Given the description of an element on the screen output the (x, y) to click on. 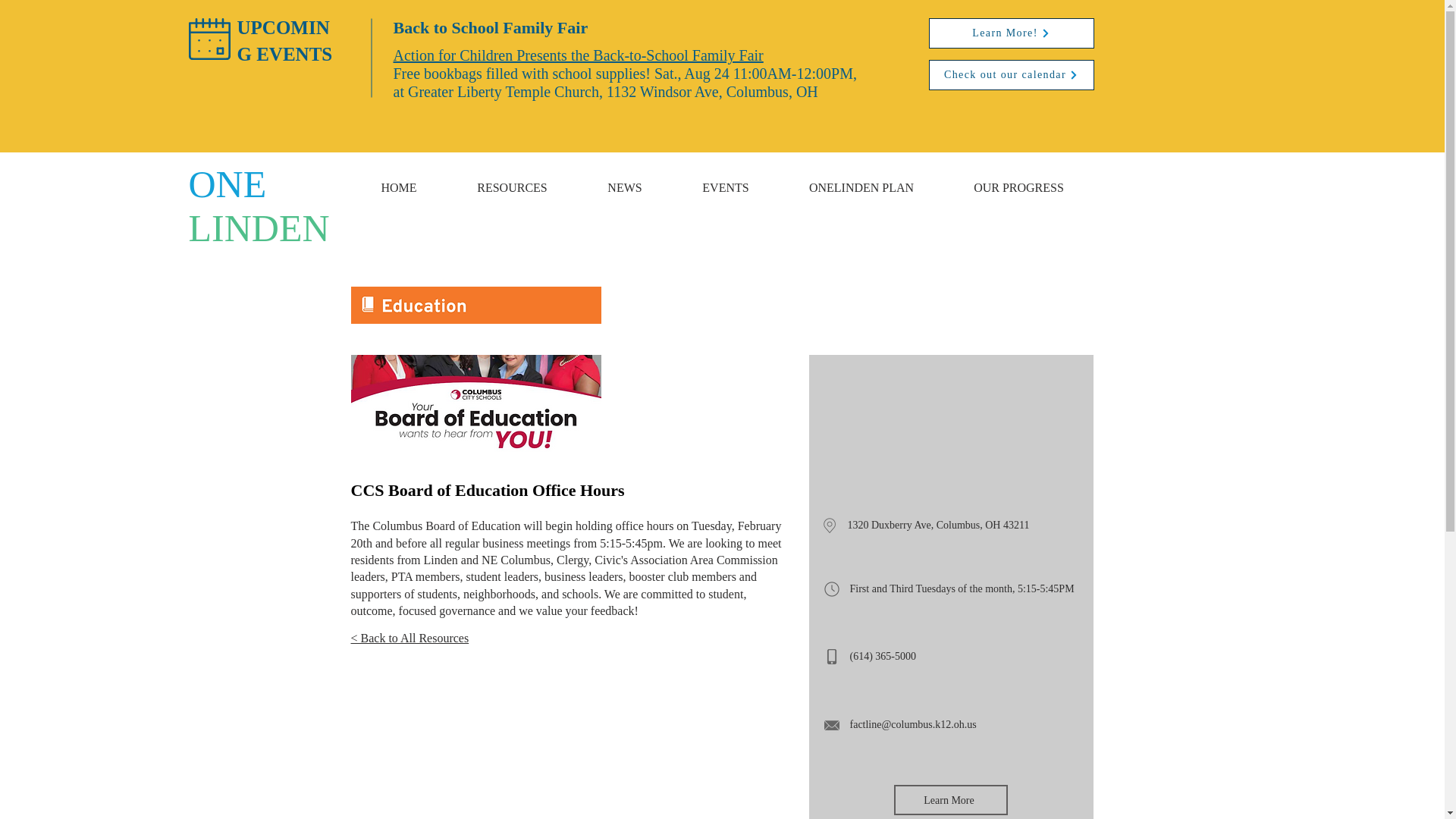
NEWS (625, 180)
RESOURCES (512, 180)
CCS Office Hours.png (474, 404)
EVENTS (724, 180)
ONELINDEN PLAN (860, 180)
Learn More! (1010, 33)
ONE LINDEN (258, 205)
Action for Children Presents the Back-to-School Family Fair (577, 54)
Check out our calendar (1010, 74)
Learn More (950, 799)
